Given the description of an element on the screen output the (x, y) to click on. 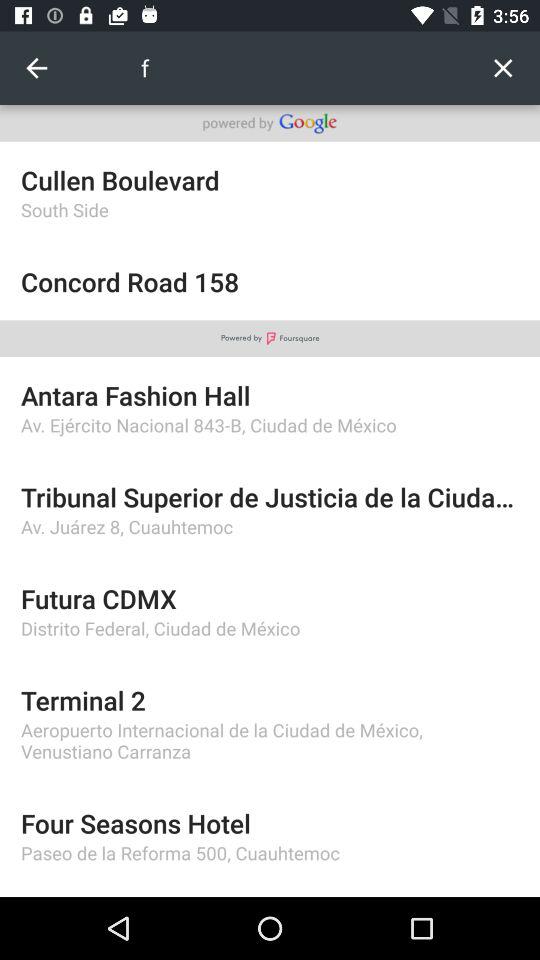
open icon below the aeropuerto internacional de icon (270, 822)
